Given the description of an element on the screen output the (x, y) to click on. 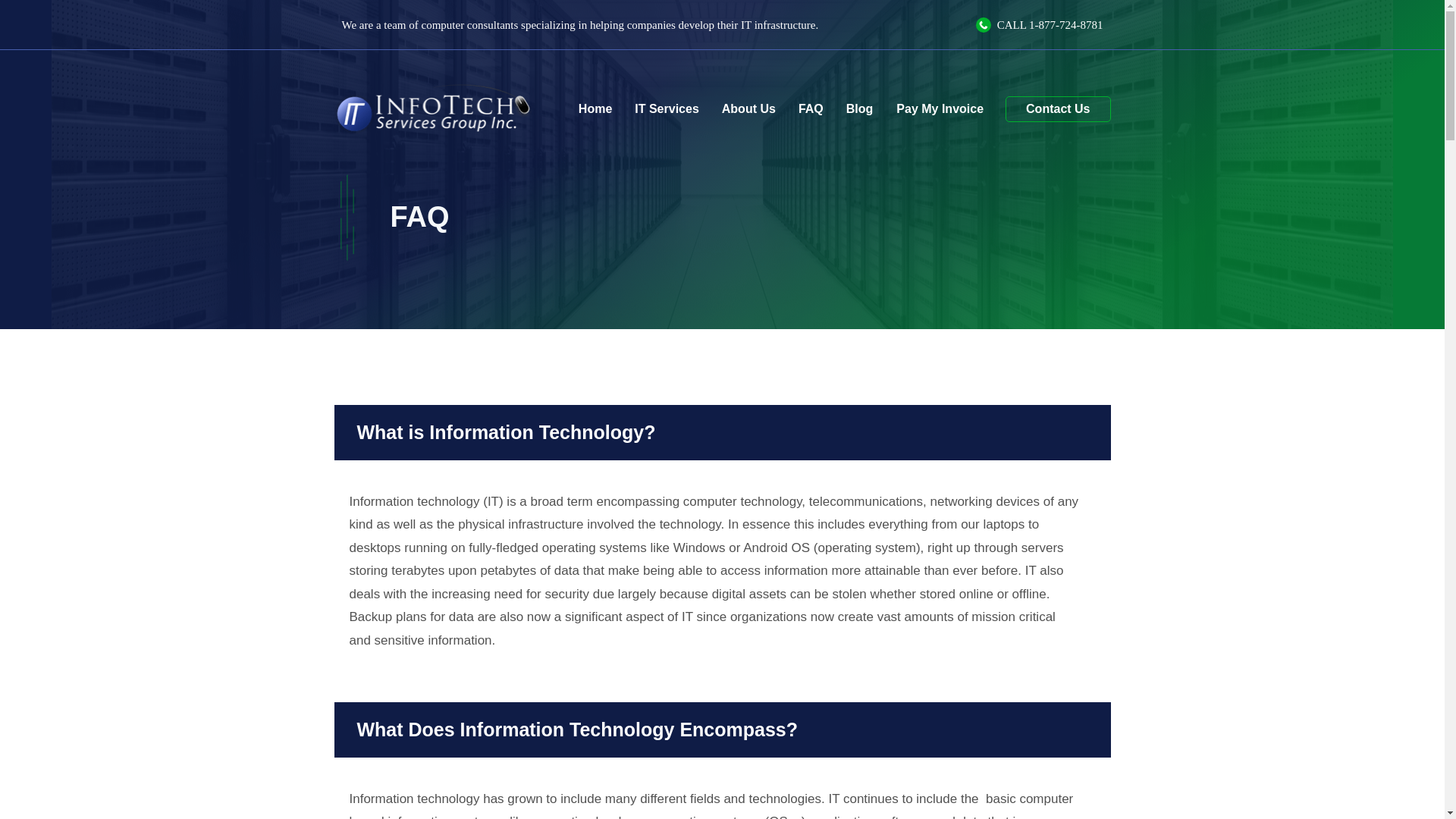
Pay My Invoice (939, 108)
Contact Us (1057, 109)
1-877-724-8781 (1066, 24)
Home (595, 108)
Blog (859, 108)
IT Services (666, 108)
About Us (748, 108)
Pay My Invoice (939, 108)
FAQ (810, 108)
